Given the description of an element on the screen output the (x, y) to click on. 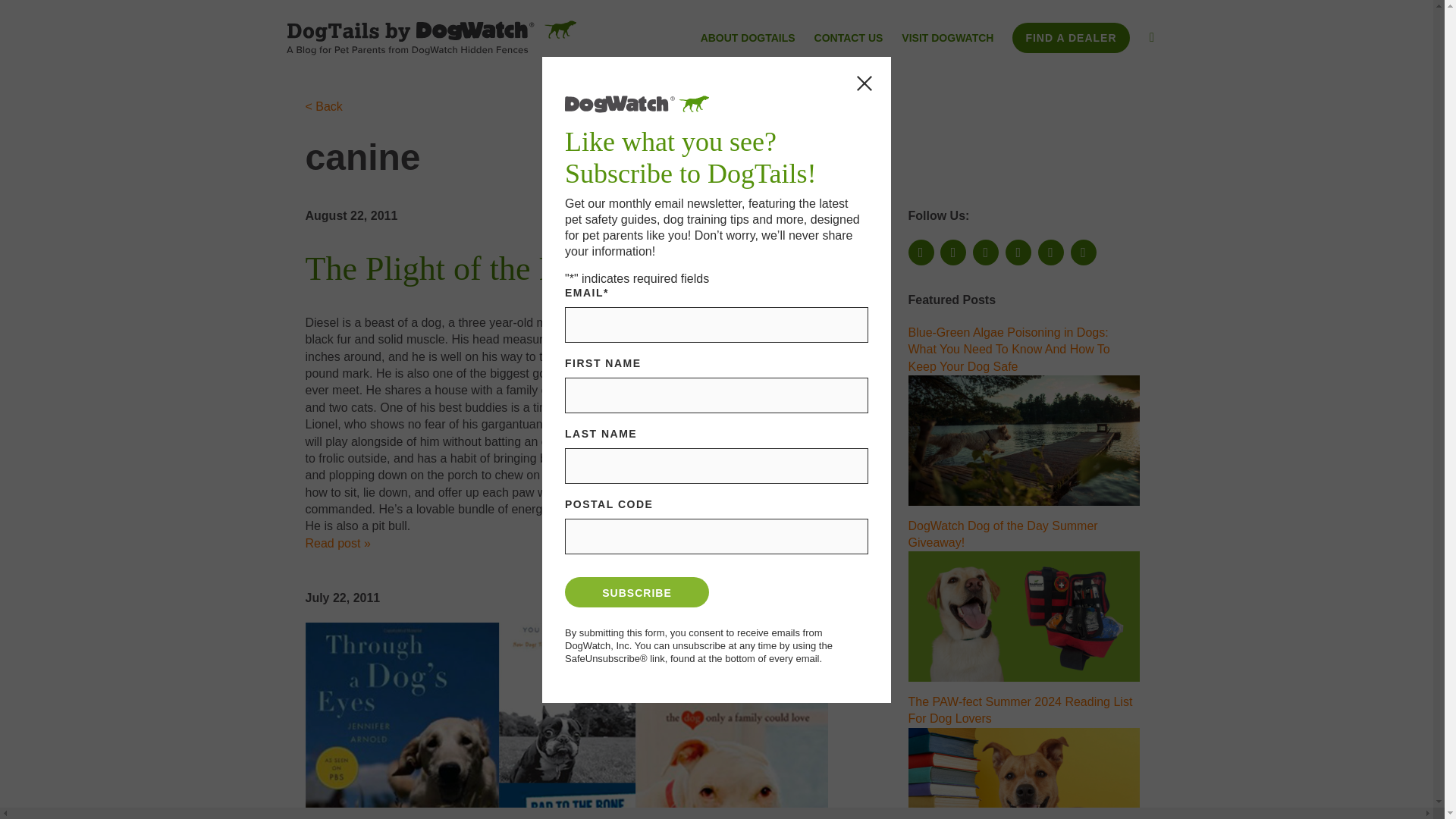
ABOUT DOGTAILS (747, 38)
DogWatch Dog of the Day Summer Giveaway! (1002, 532)
Find a Dealer (1070, 37)
readinglist2011 (565, 720)
VISIT DOGWATCH (946, 38)
About DogTails (747, 38)
DogWatch Hidden Fence Twitter Facebook (953, 252)
FIND A DEALER (1070, 37)
DogWatch Hidden Fence Systems YouTube (985, 252)
DogWatch (431, 37)
The PAW-fect Summer 2024 Reading List For Dog Lovers (1024, 773)
DogWatch Dog of the Day Summer Giveaway! (1024, 616)
The Plight of the Pit Bull (473, 268)
Contact Us (848, 38)
